Given the description of an element on the screen output the (x, y) to click on. 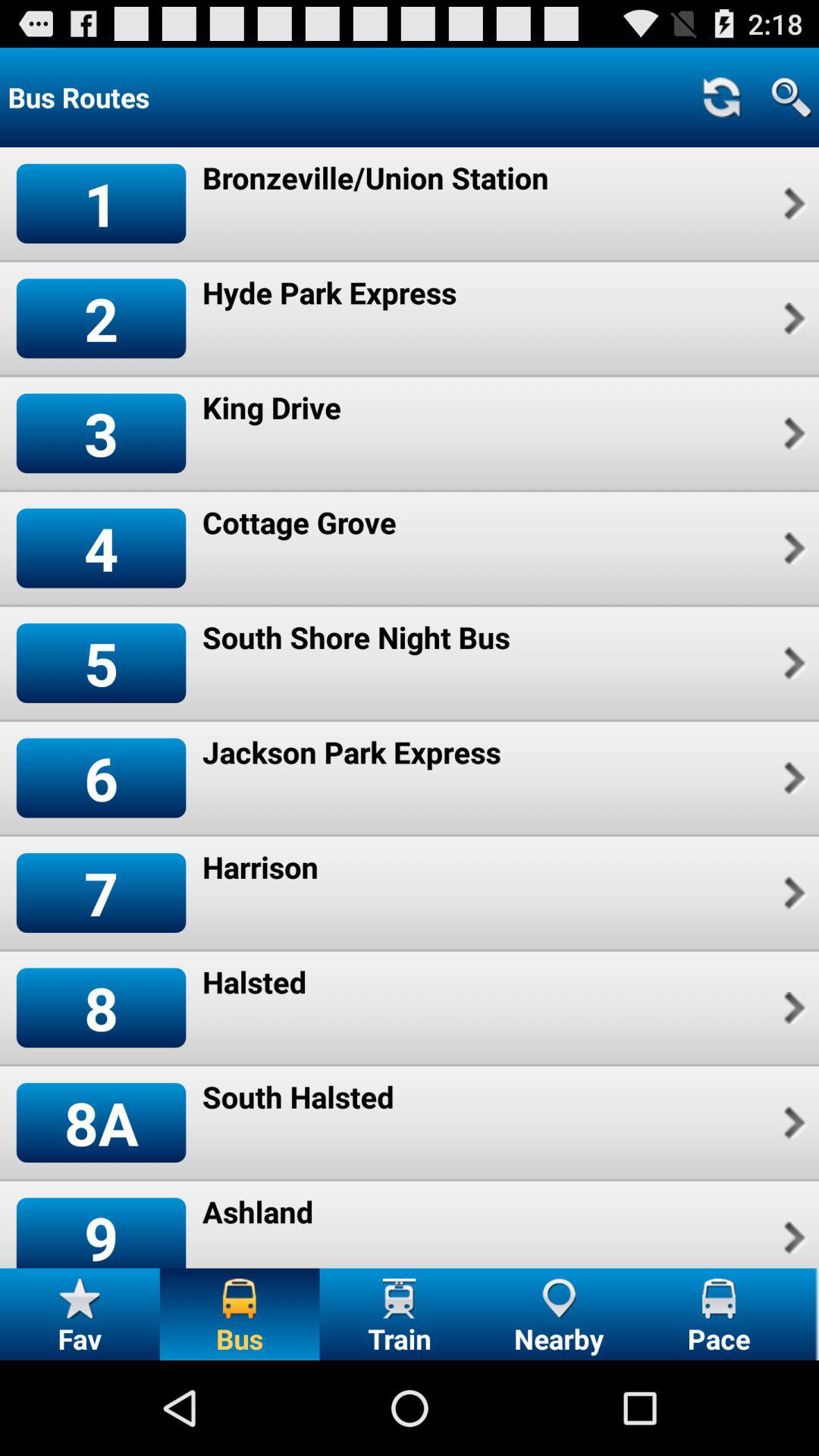
click icon to the left of the south shore night app (100, 662)
